Given the description of an element on the screen output the (x, y) to click on. 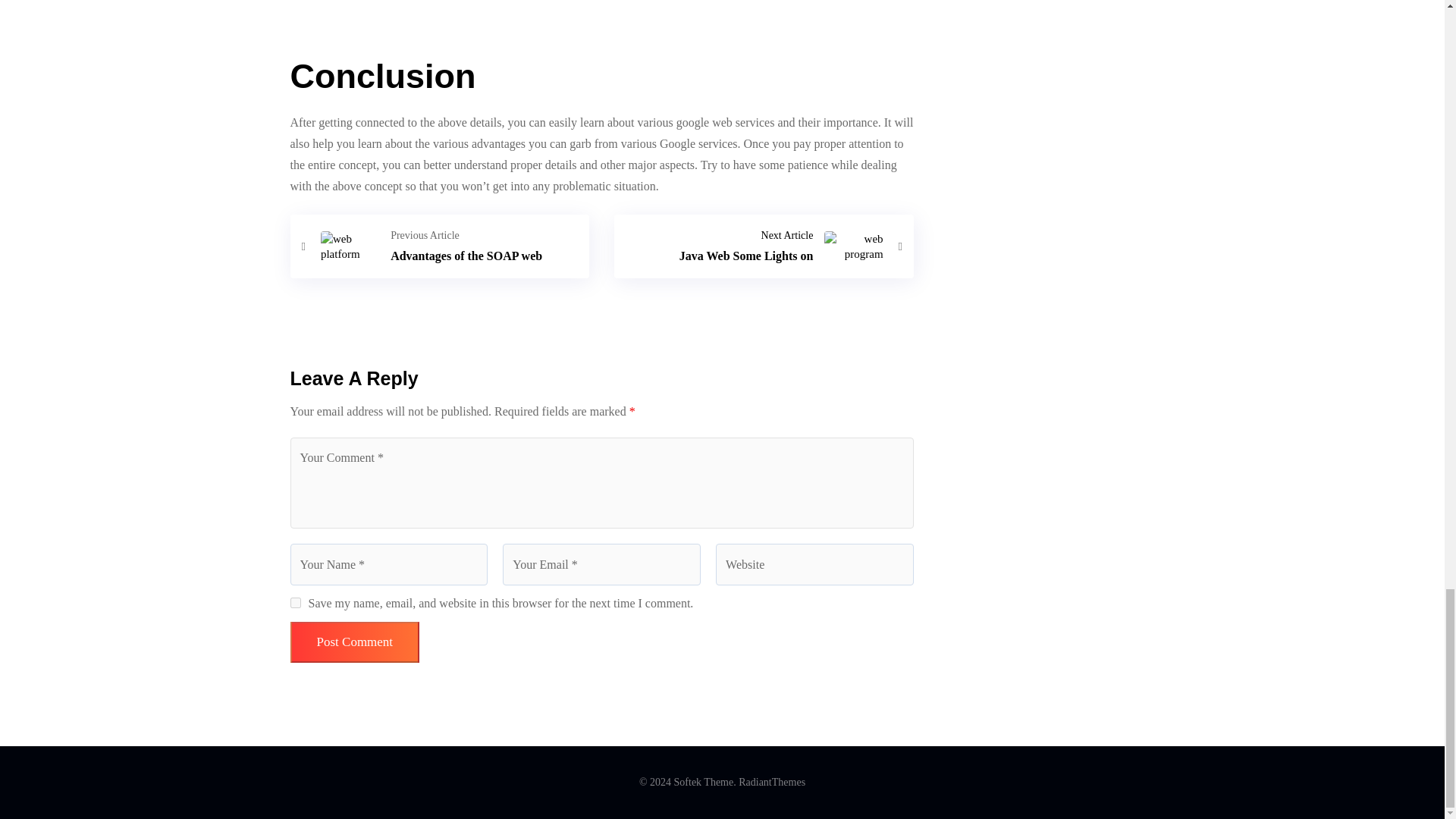
Post Comment (354, 641)
Advantages of the SOAP web services over other providers (764, 246)
Post Comment (439, 246)
